Given the description of an element on the screen output the (x, y) to click on. 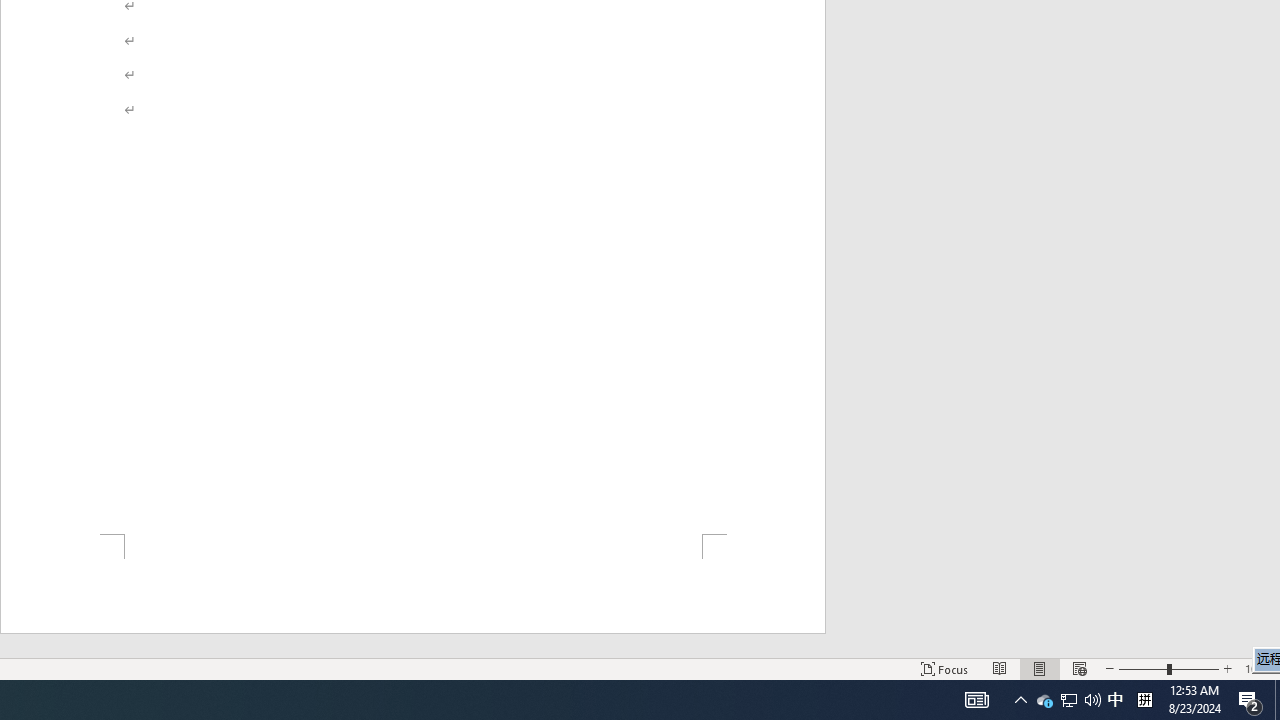
Zoom 104% (1258, 668)
